Given the description of an element on the screen output the (x, y) to click on. 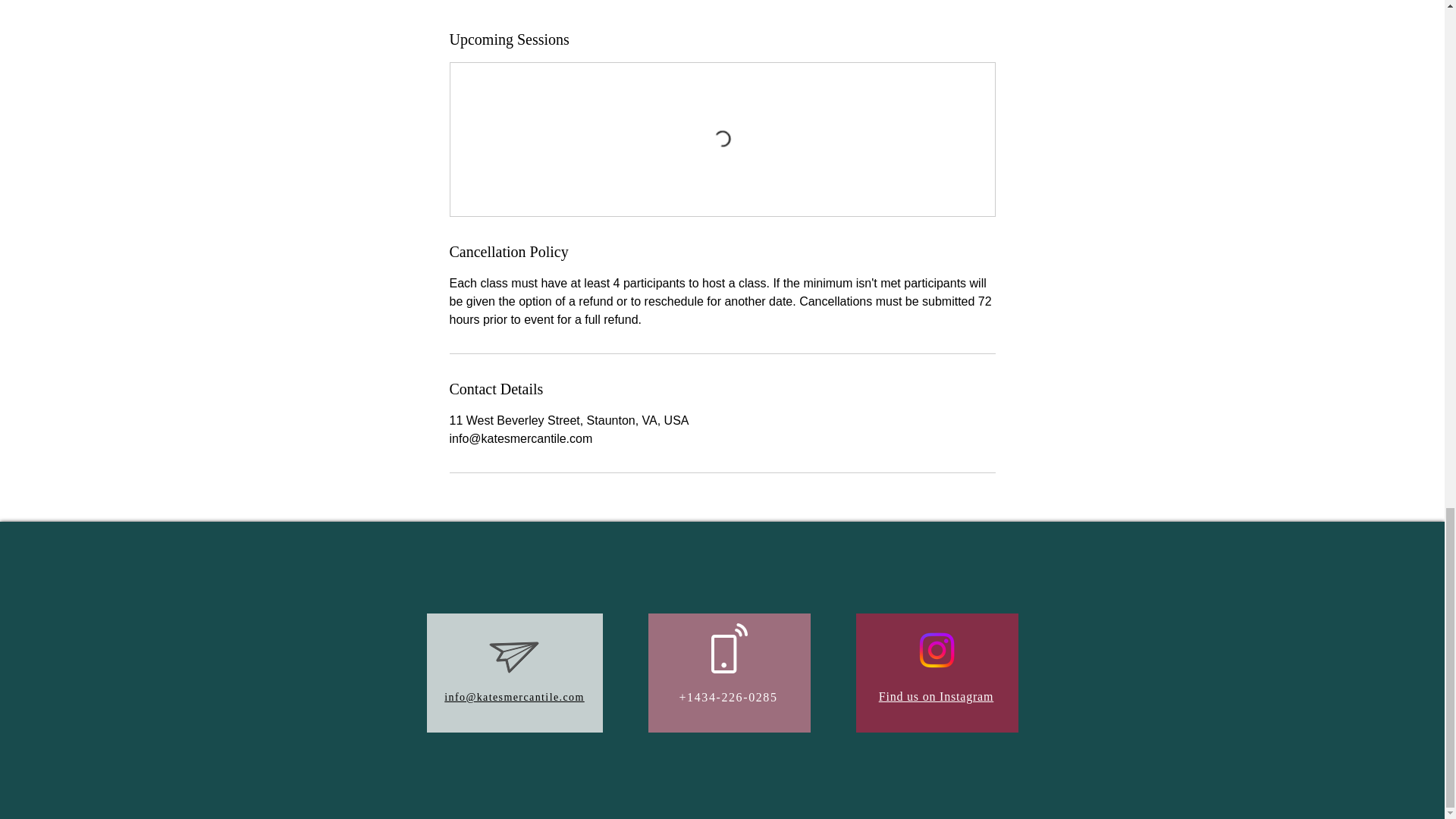
Find us on Instagram (936, 696)
